Given the description of an element on the screen output the (x, y) to click on. 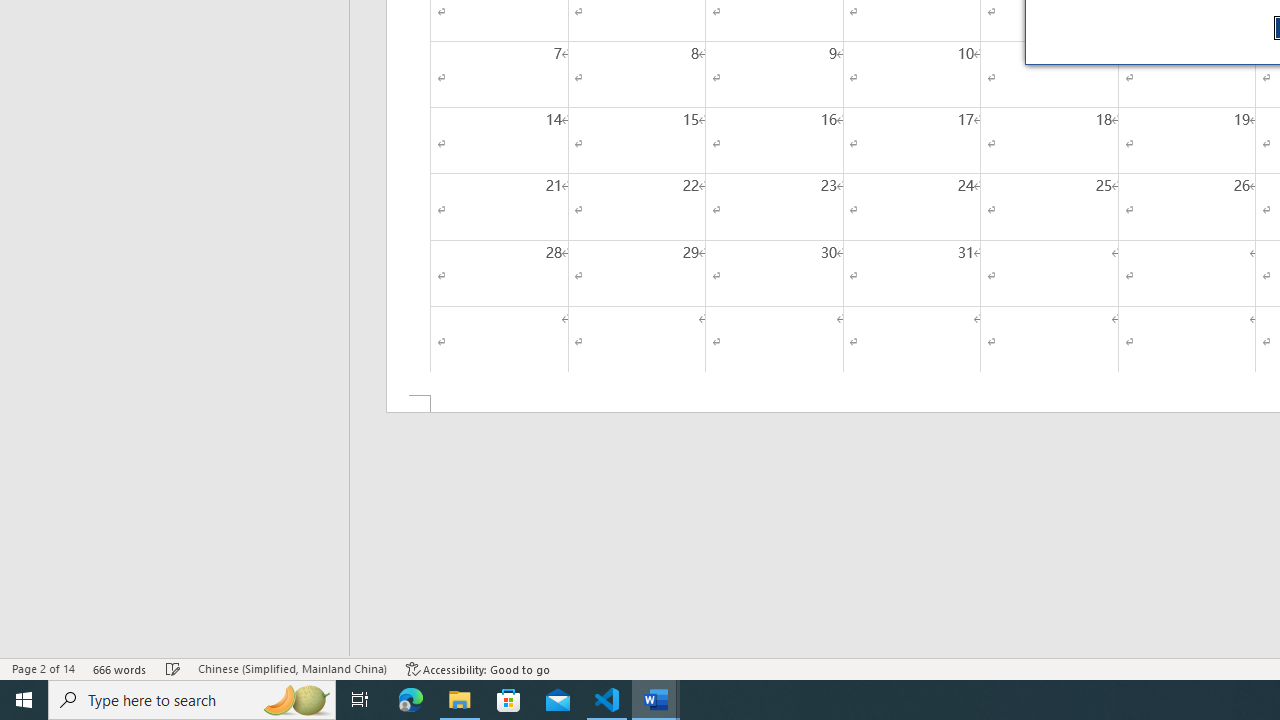
Word - 2 running windows (656, 699)
